Given the description of an element on the screen output the (x, y) to click on. 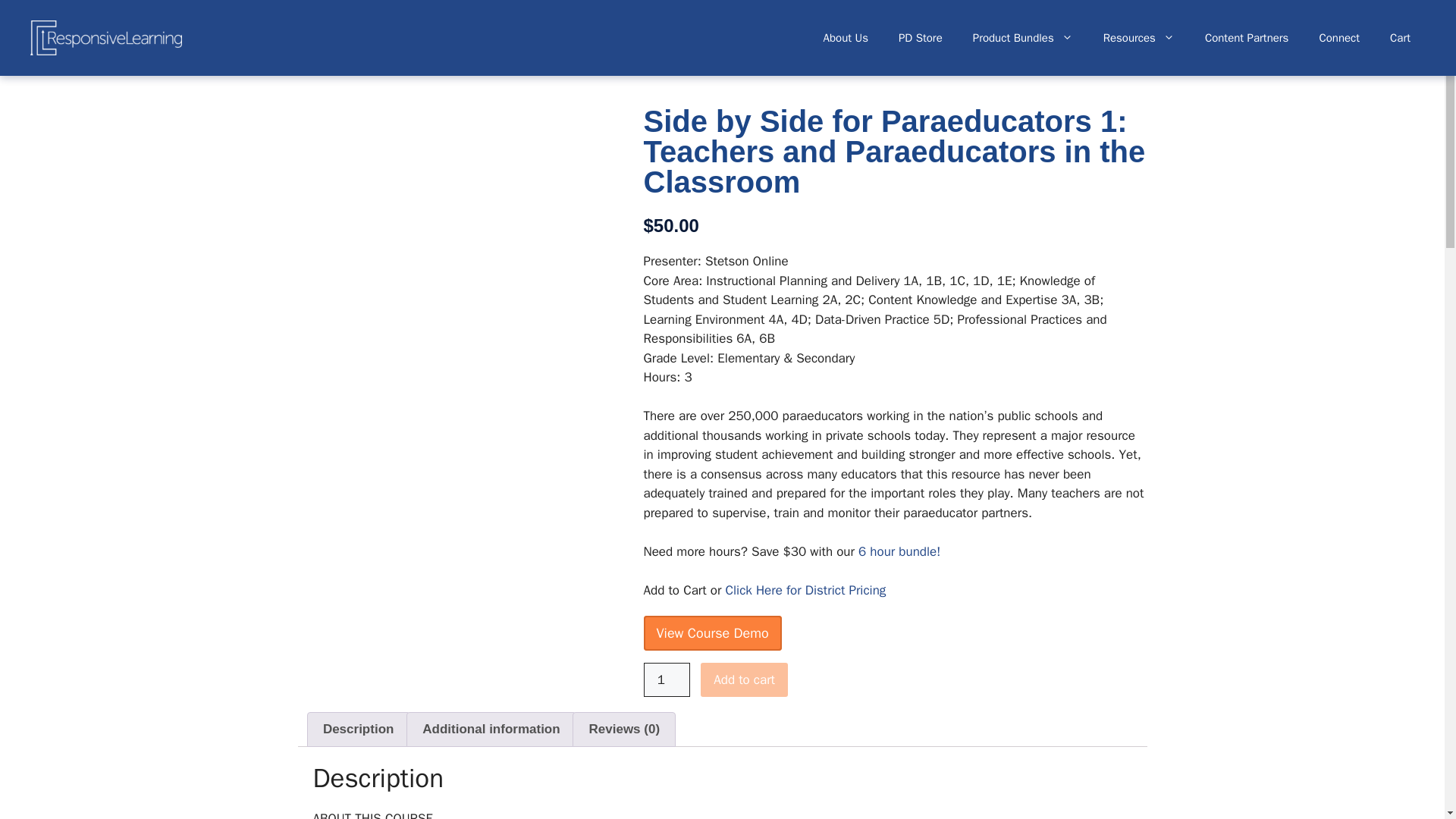
Content Partners (1246, 37)
6 hour bundle! (899, 550)
1 (666, 679)
Description (358, 729)
Connect (1338, 37)
PD Store (920, 37)
About Us (845, 37)
Click Here for District Pricing (805, 590)
Cart (1399, 37)
Product Bundles (1022, 37)
Additional information (491, 729)
View Course Demo (711, 632)
Add to cart (743, 679)
Resources (1138, 37)
